Given the description of an element on the screen output the (x, y) to click on. 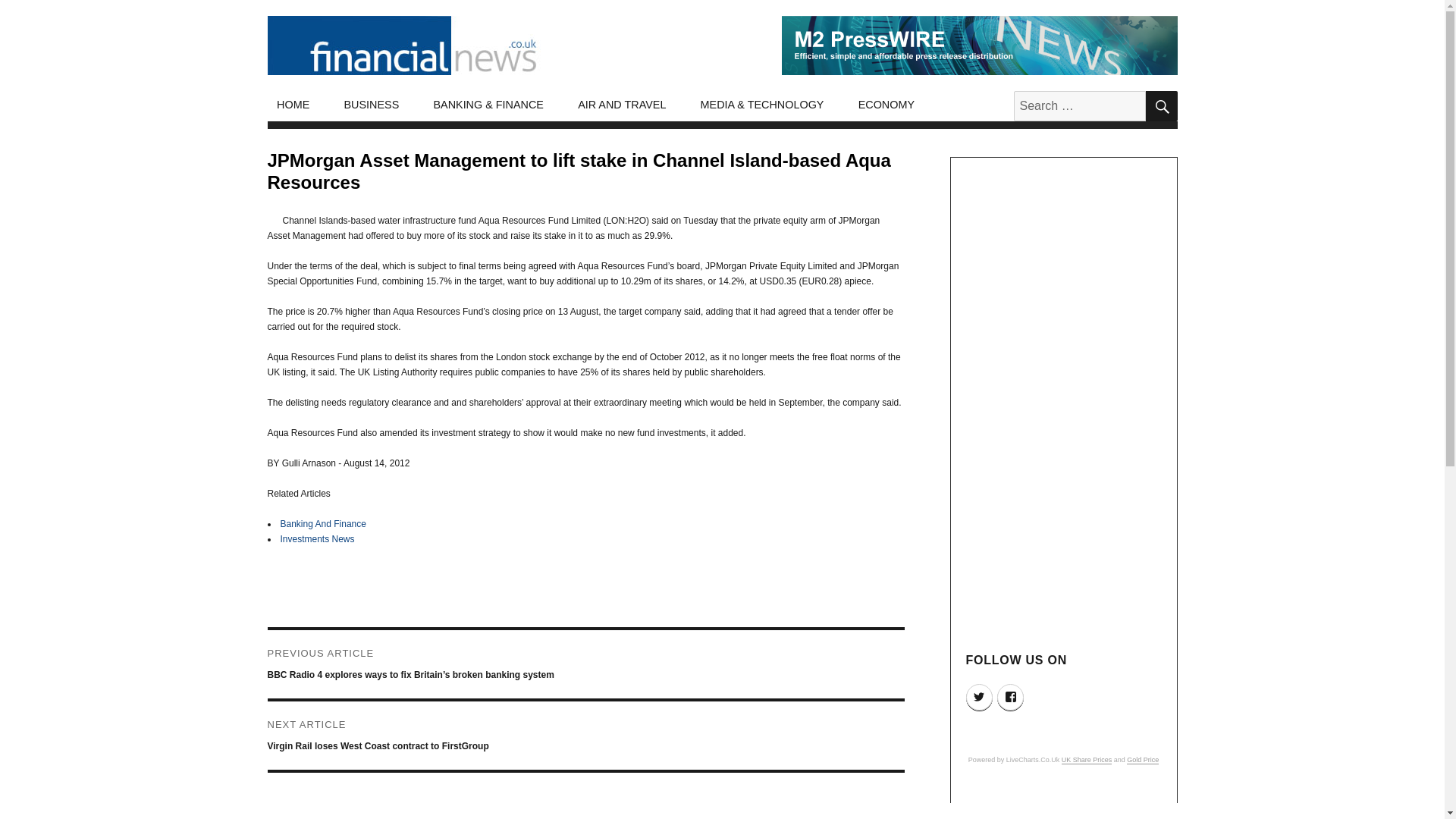
TWITTER (979, 696)
FACEBOOK (1010, 696)
SEARCH (1160, 105)
Gold Price (1142, 759)
HOME (292, 104)
BUSINESS (371, 104)
AIR AND TRAVEL (622, 104)
UK Share Prices (1086, 759)
Advertisement (1065, 804)
ECONOMY (886, 104)
Advertisement (1065, 401)
Investments News (318, 538)
Banking And Finance (323, 523)
